Given the description of an element on the screen output the (x, y) to click on. 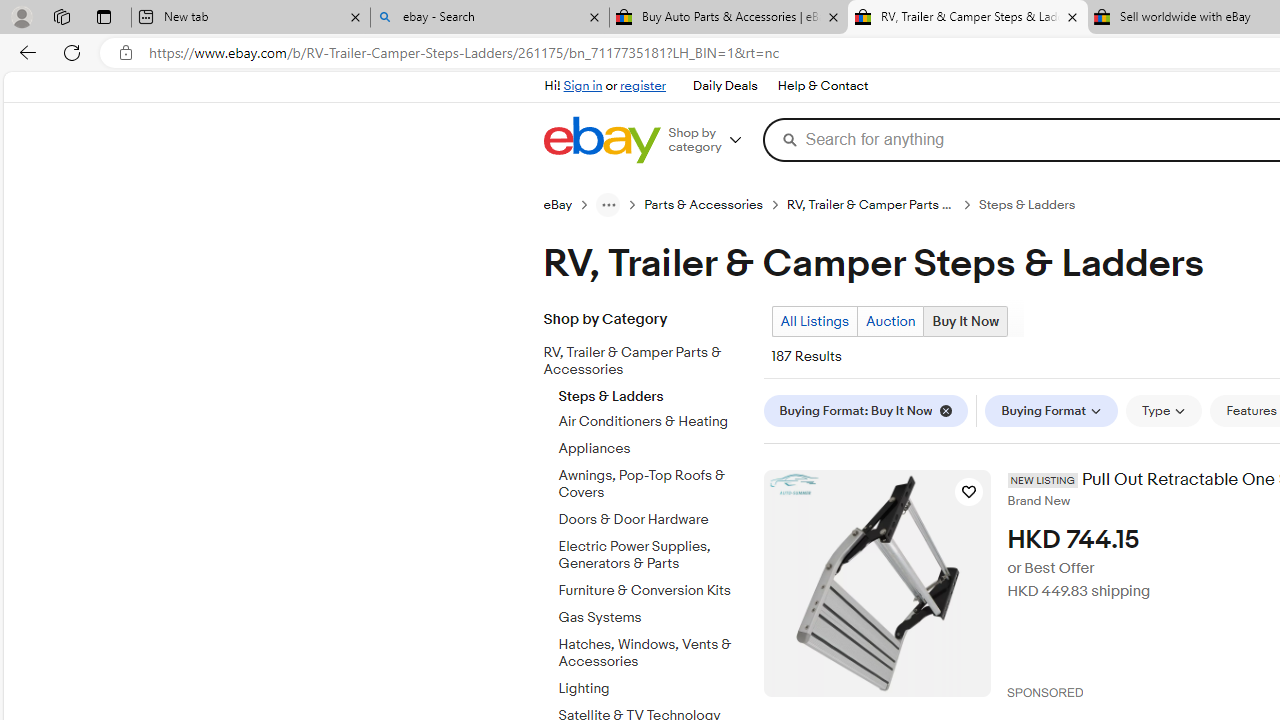
Hatches, Windows, Vents & Accessories (653, 653)
Buy Auto Parts & Accessories | eBay (729, 17)
Awnings, Pop-Top Roofs & Covers (653, 485)
Awnings, Pop-Top Roofs & Covers (653, 481)
RV, Trailer & Camper Parts & Accessories (653, 358)
Appliances (653, 449)
Parts & Accessories (703, 205)
Furniture & Conversion Kits (653, 591)
Appliances (653, 445)
